Given the description of an element on the screen output the (x, y) to click on. 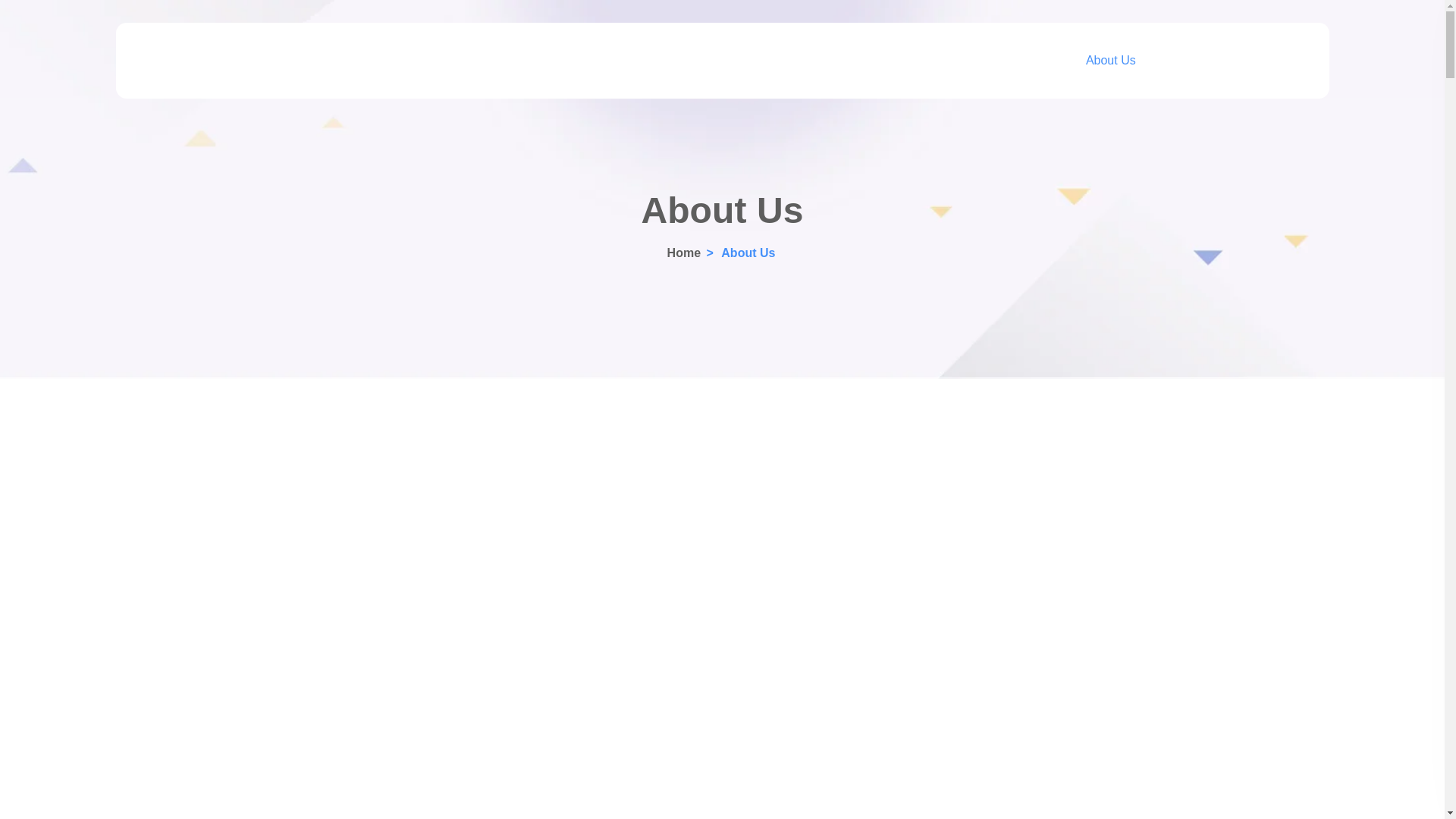
About Us (1110, 60)
Contact Us (1257, 60)
Home (683, 251)
Home (683, 251)
Services (1028, 60)
